Given the description of an element on the screen output the (x, y) to click on. 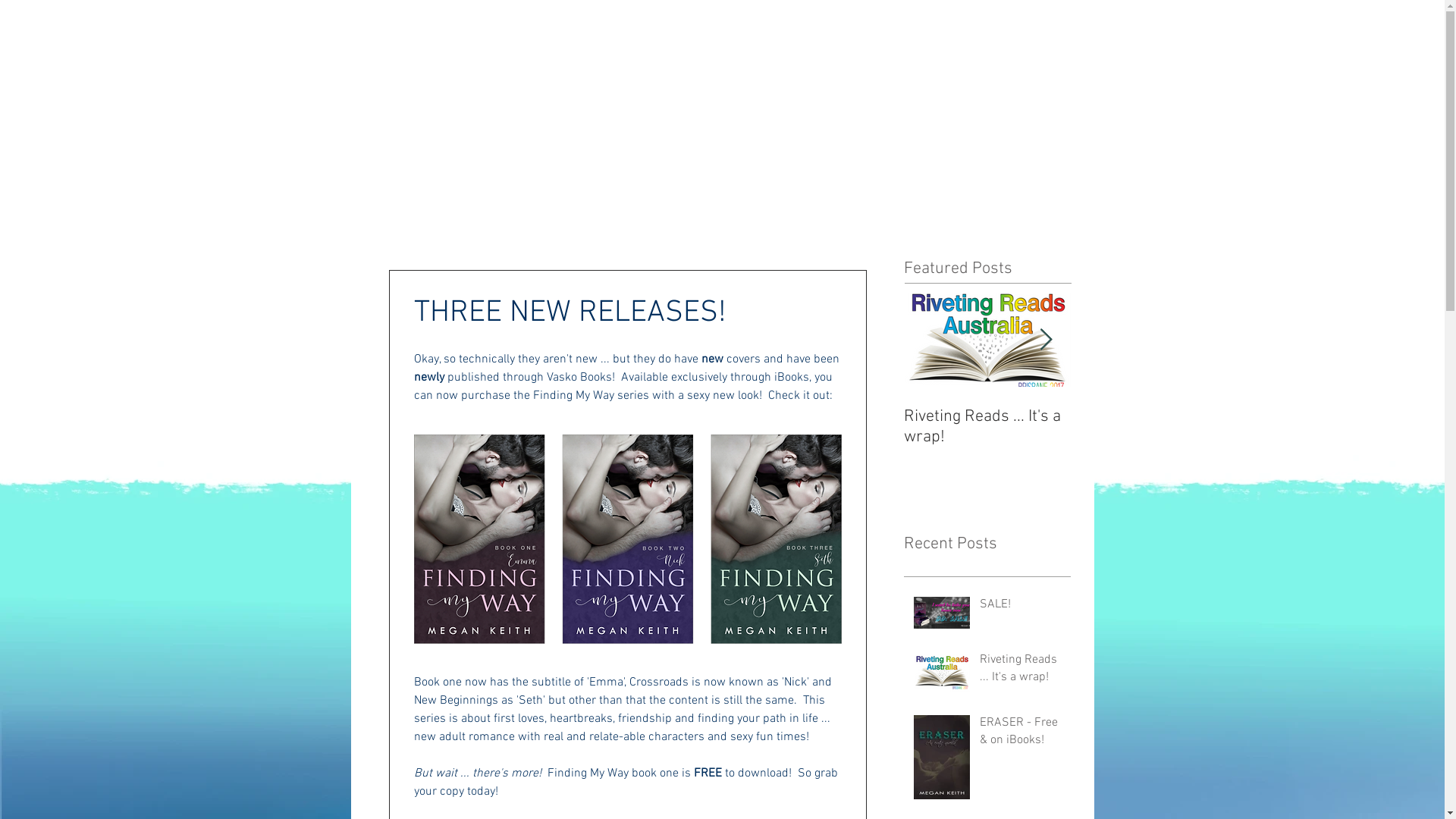
Riveting Reads ... It's a wrap! Element type: text (986, 426)
ERASER - Free & on iBooks! Element type: text (1020, 734)
ERASER - Free & on iBooks! Element type: text (1153, 426)
Riveting Reads ... It's a wrap! Element type: text (1020, 671)
NEW RELEASE - Coloring Under The Covers, Vol 2 Element type: text (1320, 436)
SALE! Element type: text (1020, 607)
